Given the description of an element on the screen output the (x, y) to click on. 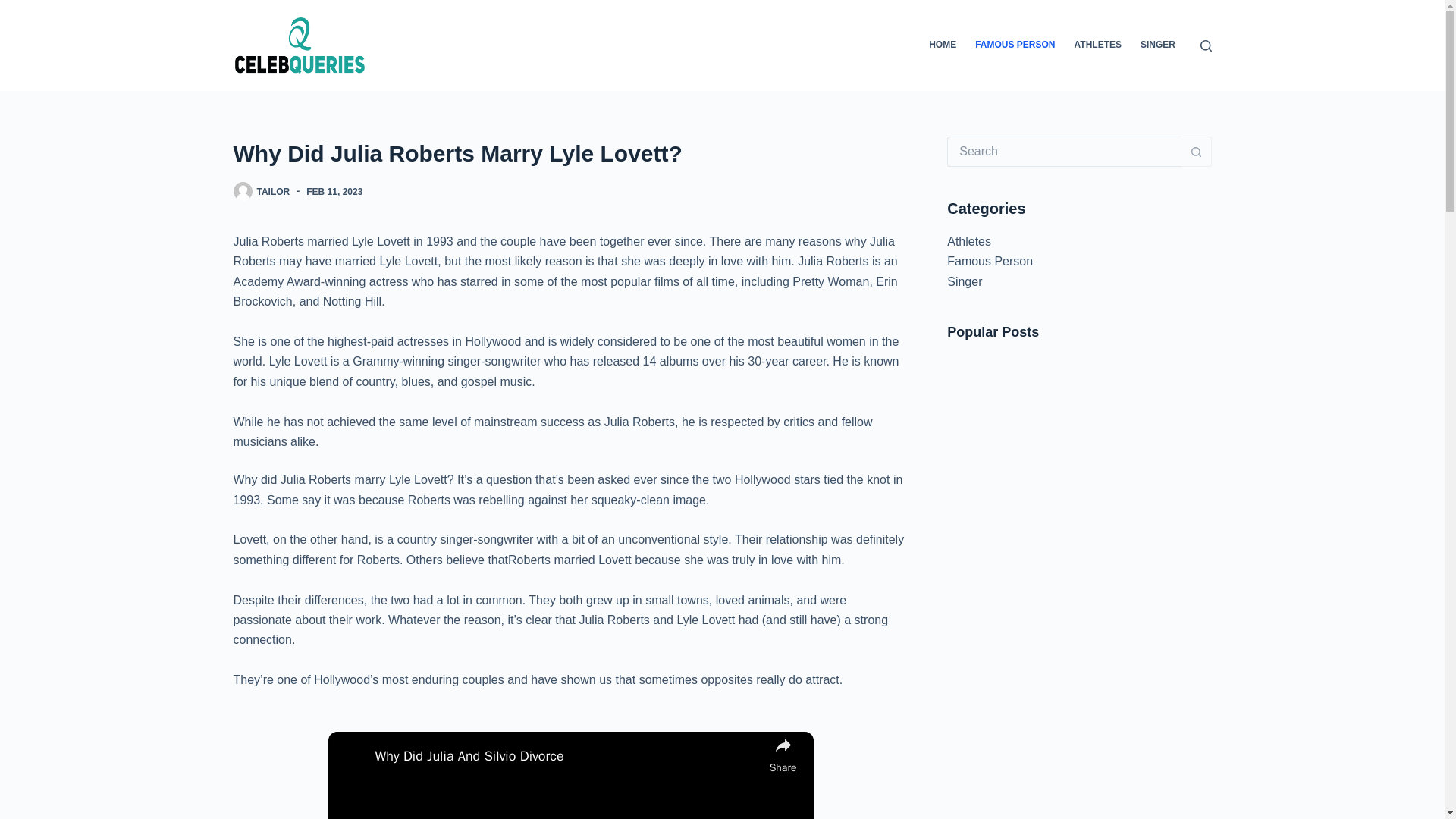
Why Did Julia And Silvio Divorce (568, 756)
Posts by tailor (272, 191)
TAILOR (272, 191)
Skip to content (15, 7)
Famous Person (989, 260)
Why Did Julia Roberts Marry Lyle Lovett? (570, 153)
Search for... (1063, 151)
Singer (964, 281)
Athletes (969, 241)
FAMOUS PERSON (1015, 45)
